Given the description of an element on the screen output the (x, y) to click on. 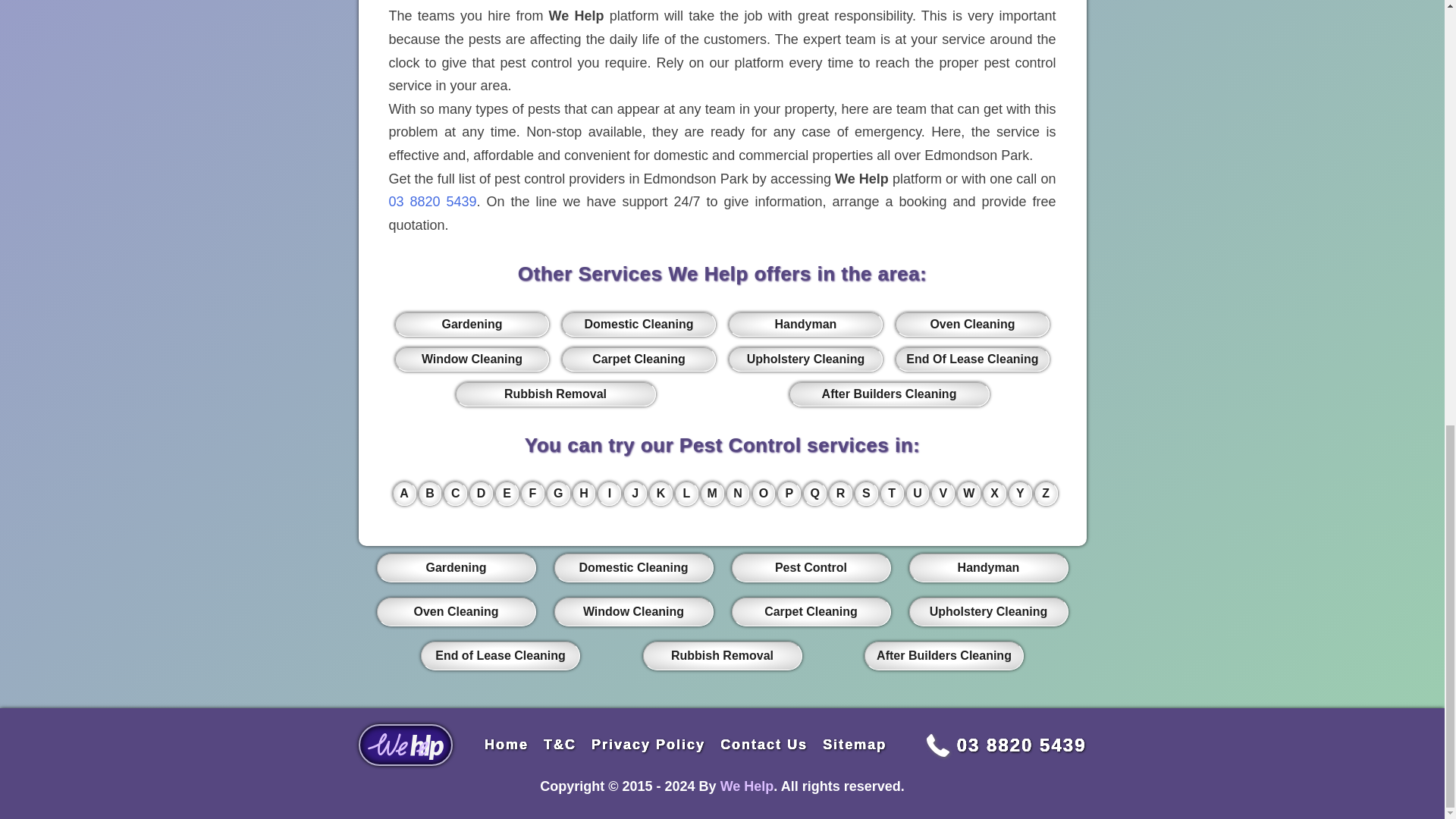
Domestic Cleaning (638, 324)
Oven Cleaning Edmondson Park 2171 (971, 324)
Window Cleaning Edmondson Park 2171 (471, 359)
Carpet Cleaning (638, 359)
After Builders Cleaning Edmondson Park 2171 (888, 394)
Window Cleaning (471, 359)
Upholstery Cleaning Edmondson Park 2171 (805, 359)
Gardening (471, 324)
Handyman Edmondson Park 2171 (805, 324)
After Builders Cleaning (888, 394)
